Given the description of an element on the screen output the (x, y) to click on. 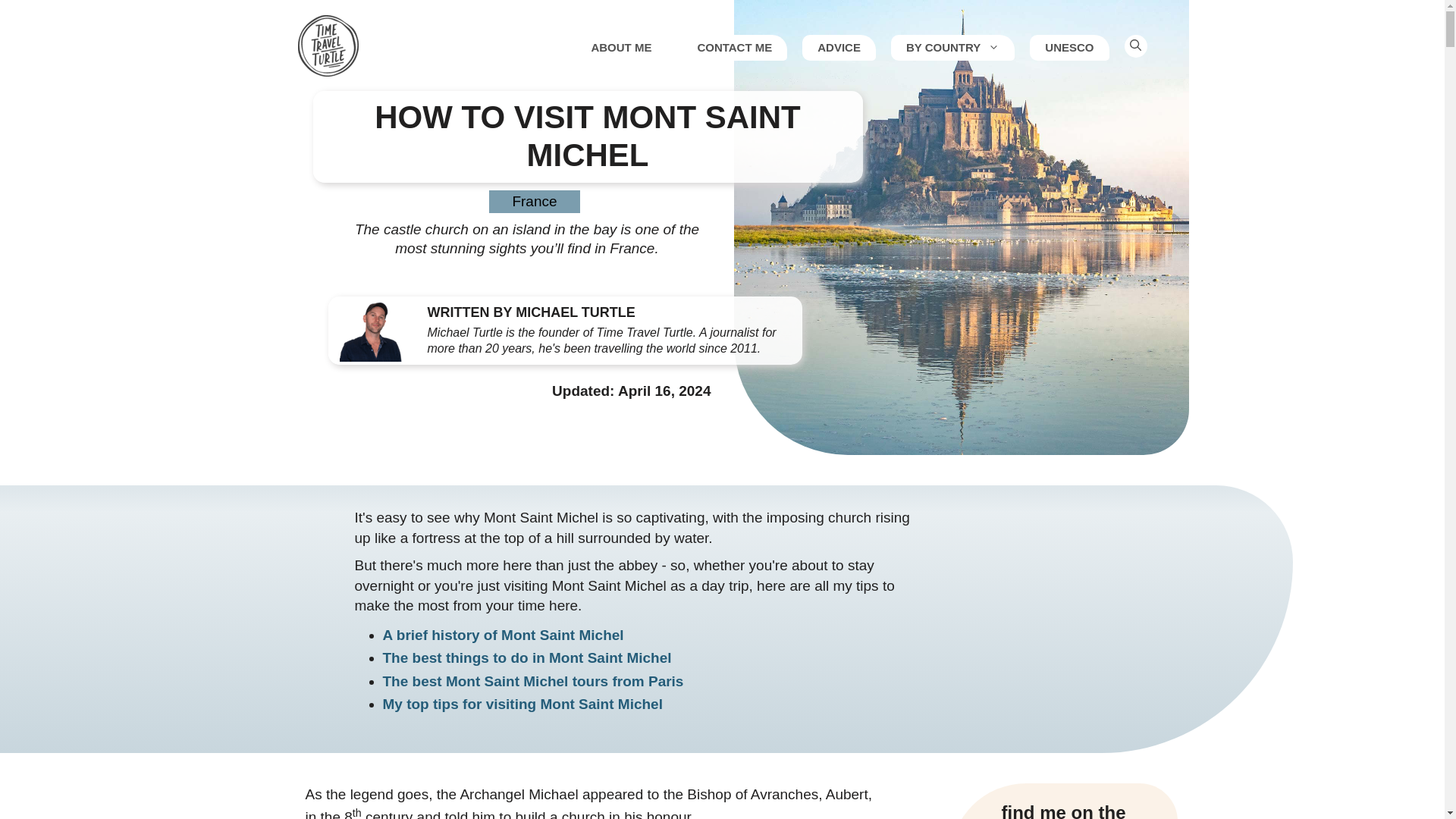
ADVICE (839, 47)
CONTACT ME (734, 47)
BY COUNTRY (952, 47)
ABOUT ME (620, 47)
